Given the description of an element on the screen output the (x, y) to click on. 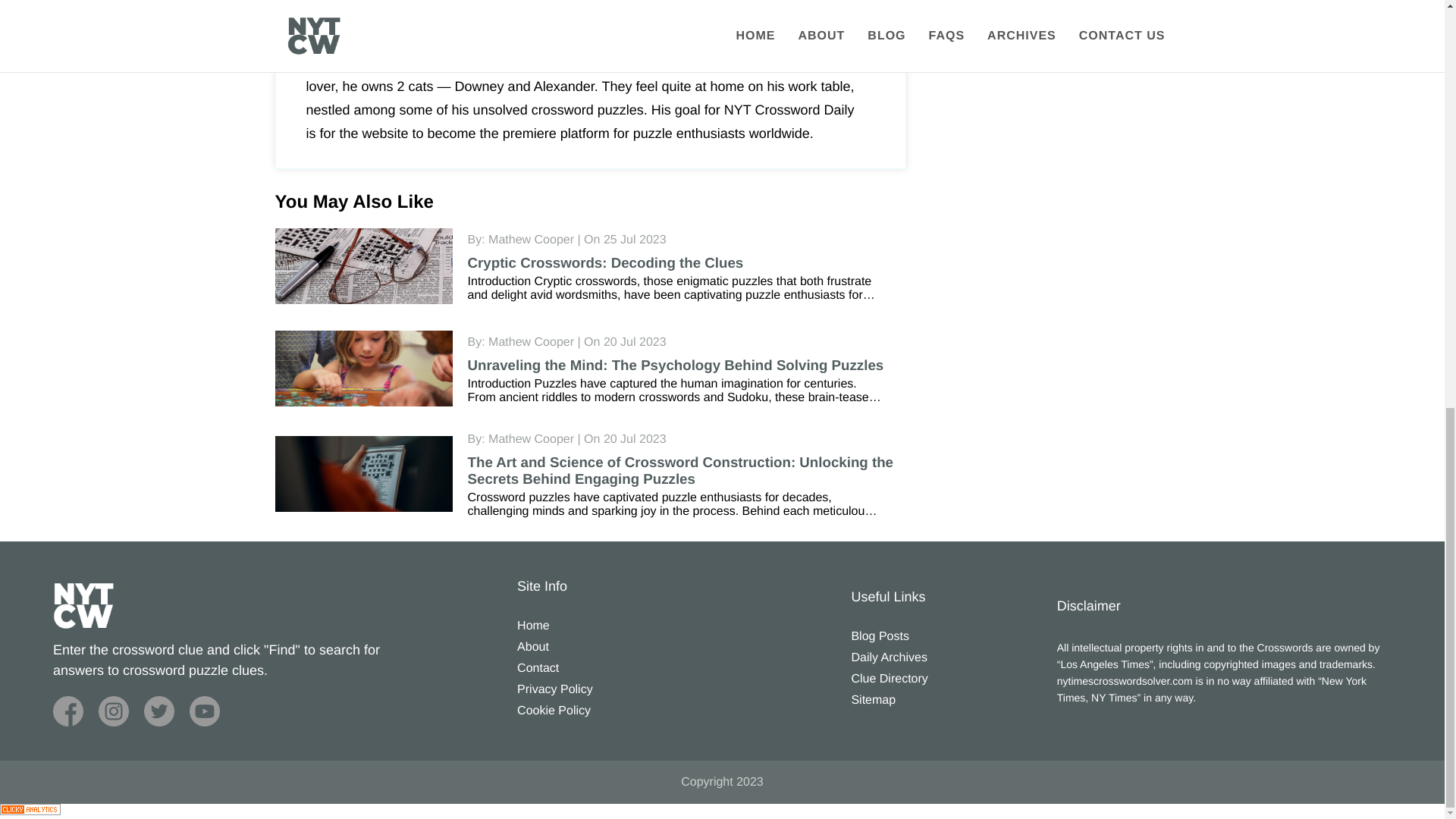
Privacy-friendly Web Analytics (30, 811)
